Given the description of an element on the screen output the (x, y) to click on. 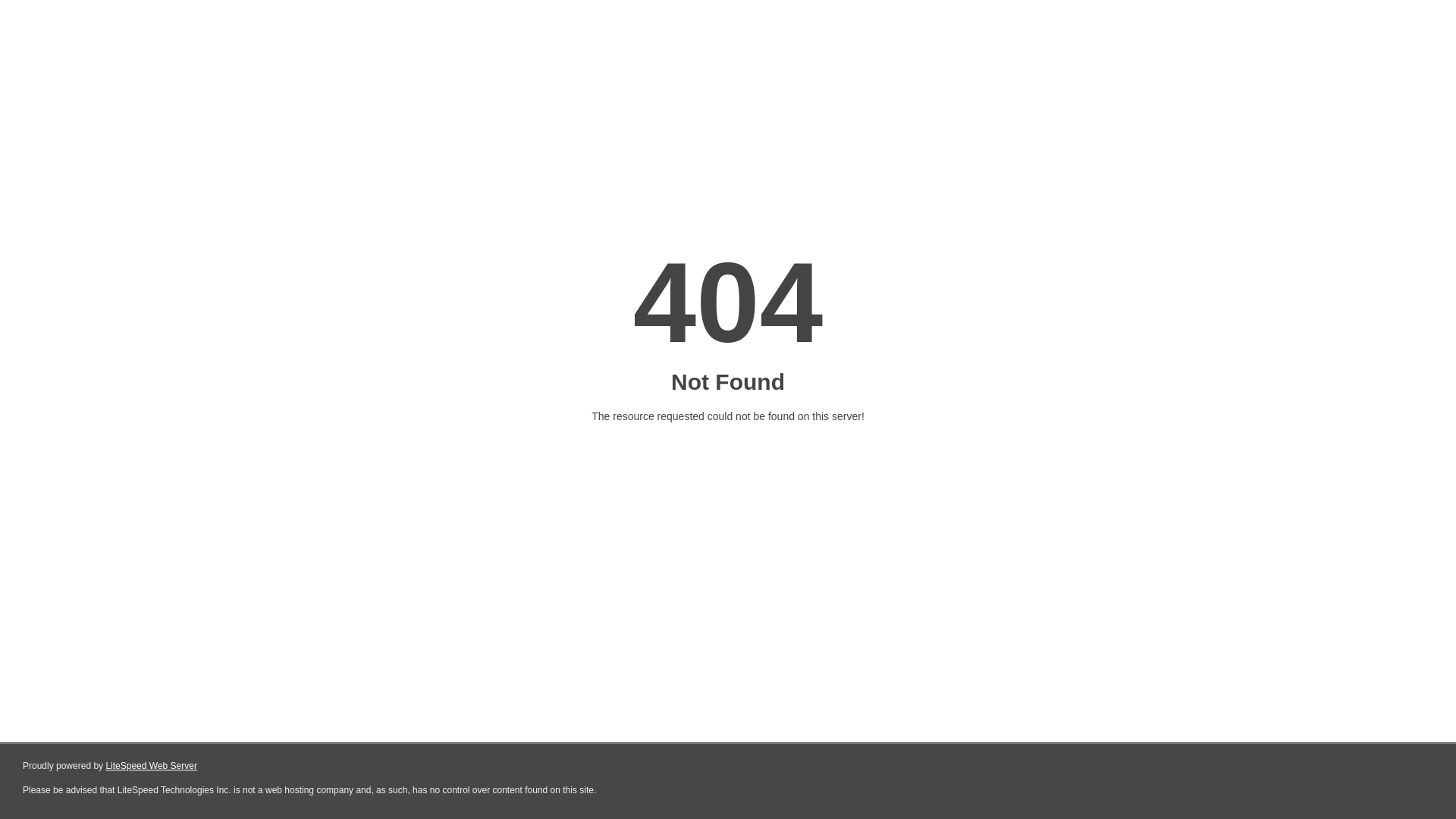
LiteSpeed Web Server Element type: text (151, 765)
